Given the description of an element on the screen output the (x, y) to click on. 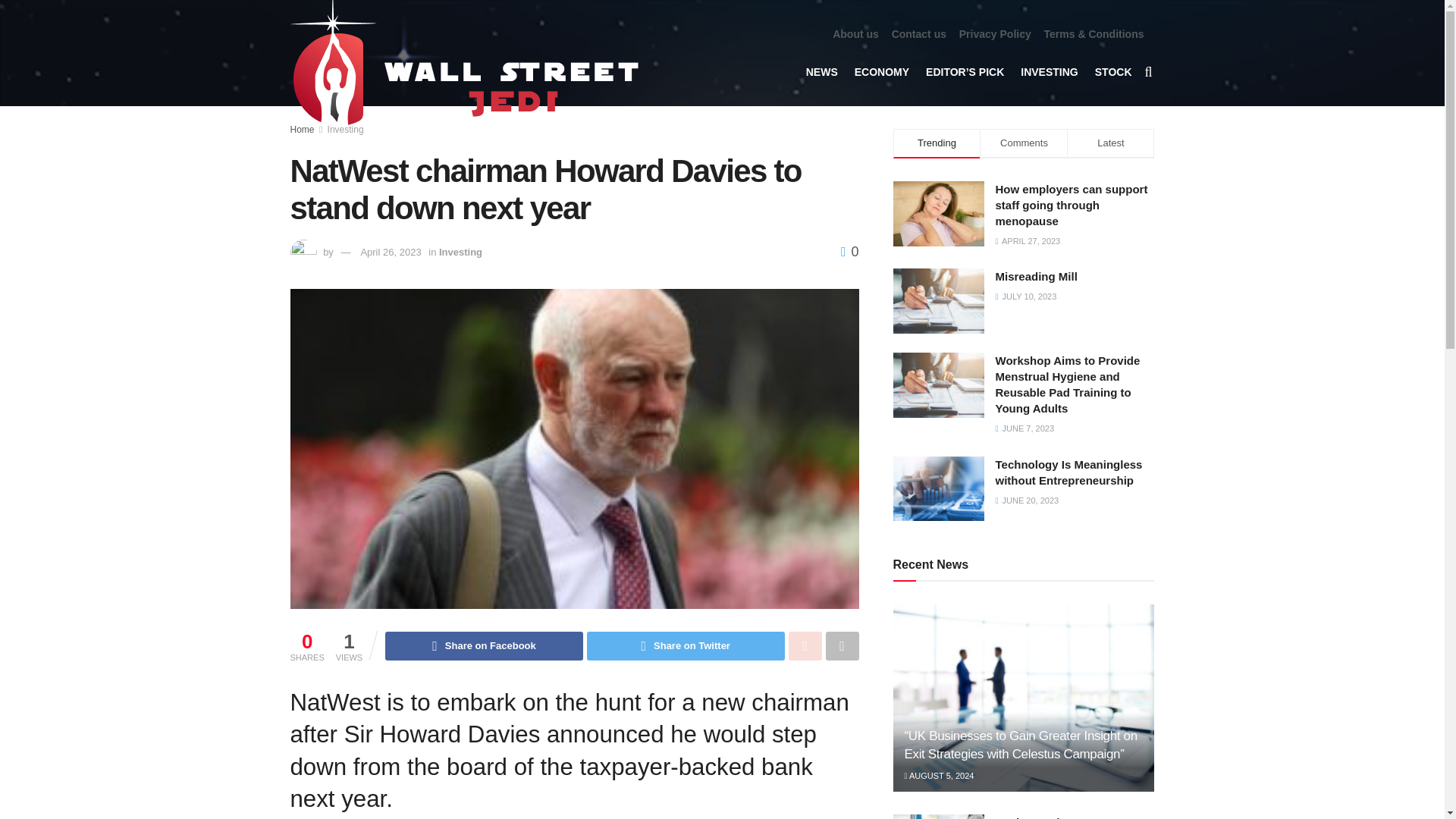
0 (850, 251)
Investing (345, 129)
Privacy Policy (994, 34)
About us (855, 34)
Investing (460, 251)
INVESTING (1048, 71)
April 26, 2023 (389, 251)
Share on Facebook (484, 645)
STOCK (1113, 71)
ECONOMY (881, 71)
Share on Twitter (685, 645)
Home (301, 129)
Contact us (918, 34)
